Given the description of an element on the screen output the (x, y) to click on. 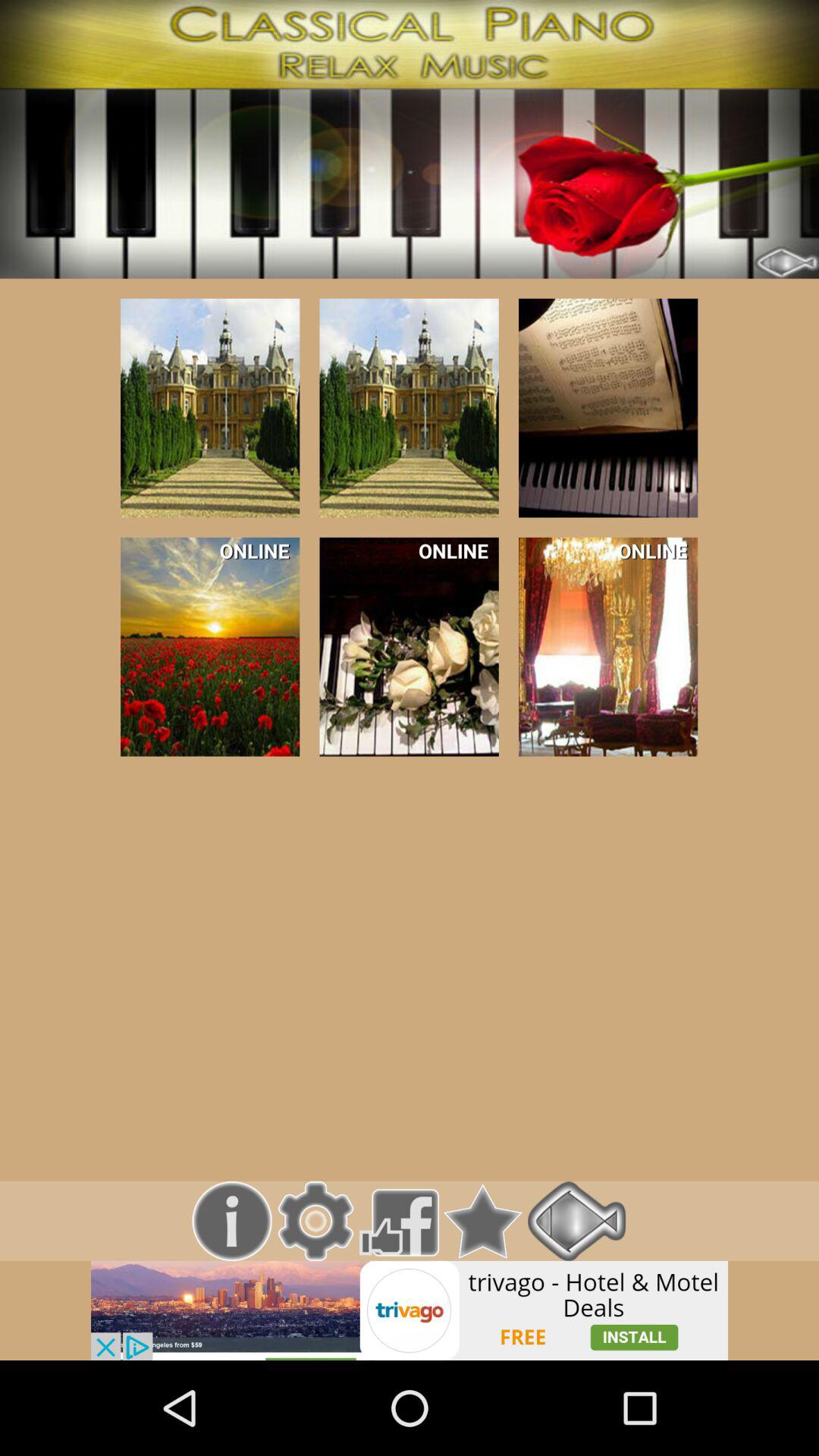
click facebook option (399, 1220)
